Given the description of an element on the screen output the (x, y) to click on. 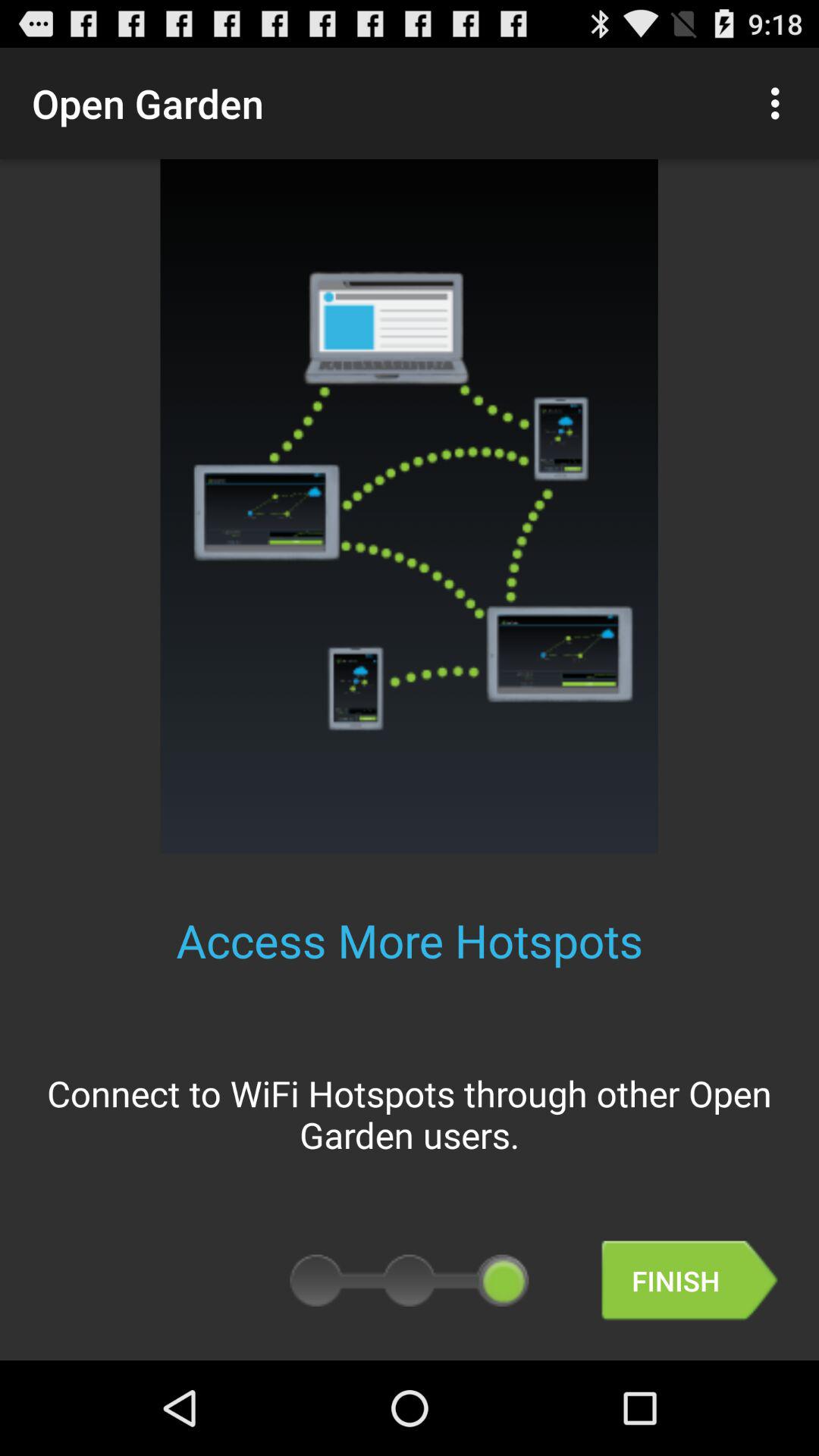
choose the icon above the access more hotspots icon (779, 103)
